Given the description of an element on the screen output the (x, y) to click on. 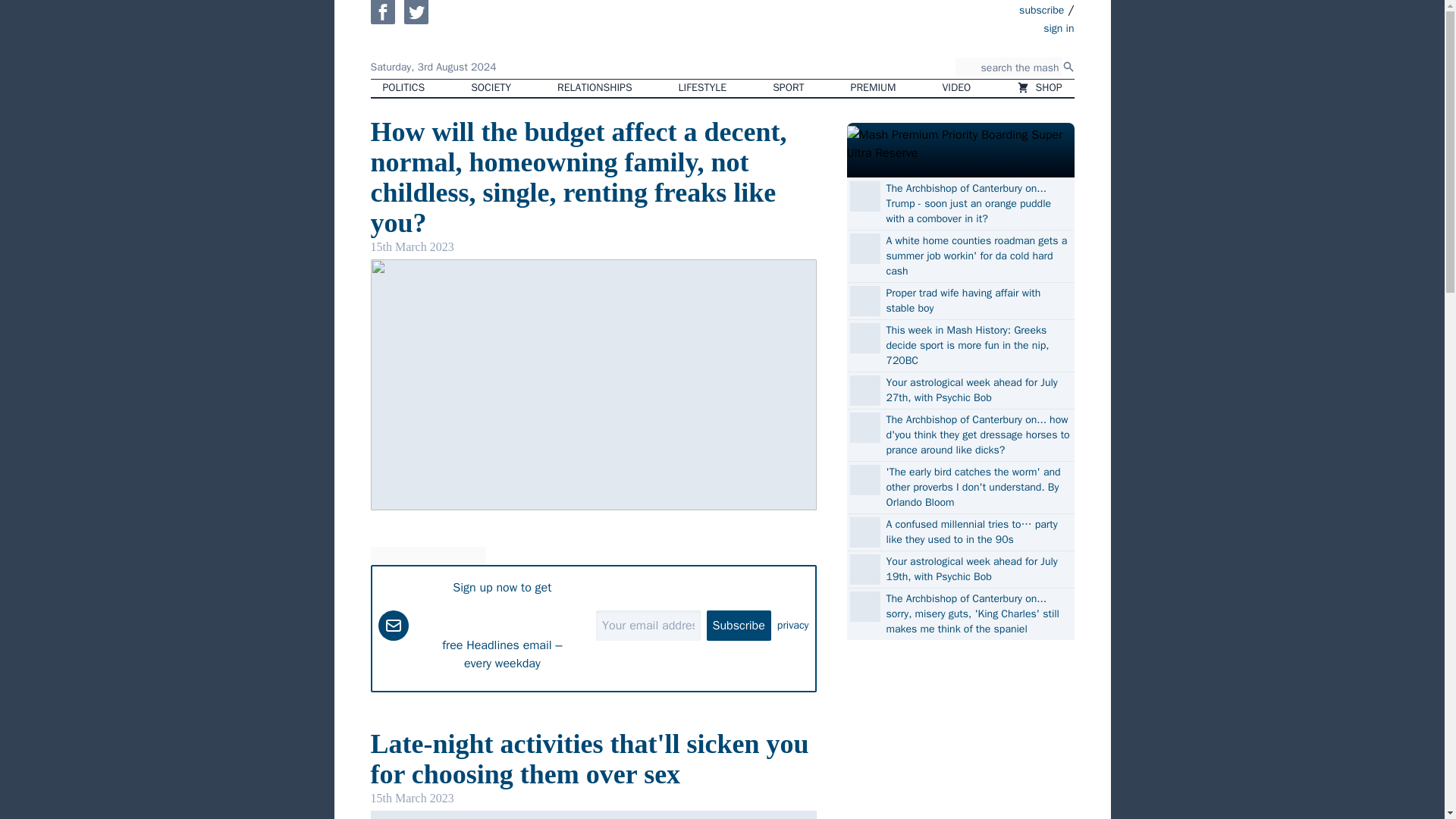
PREMIUM (873, 88)
RELATIONSHIPS (593, 88)
privacy (793, 624)
sign in (970, 27)
VIDEO (957, 88)
Your astrological week ahead for July 27th, with Psychic Bob (977, 390)
Your astrological week ahead for July 19th, with Psychic Bob (977, 569)
SOCIETY (490, 88)
LIFESTYLE (702, 88)
subscribe (1041, 9)
SHOP (1039, 88)
